Given the description of an element on the screen output the (x, y) to click on. 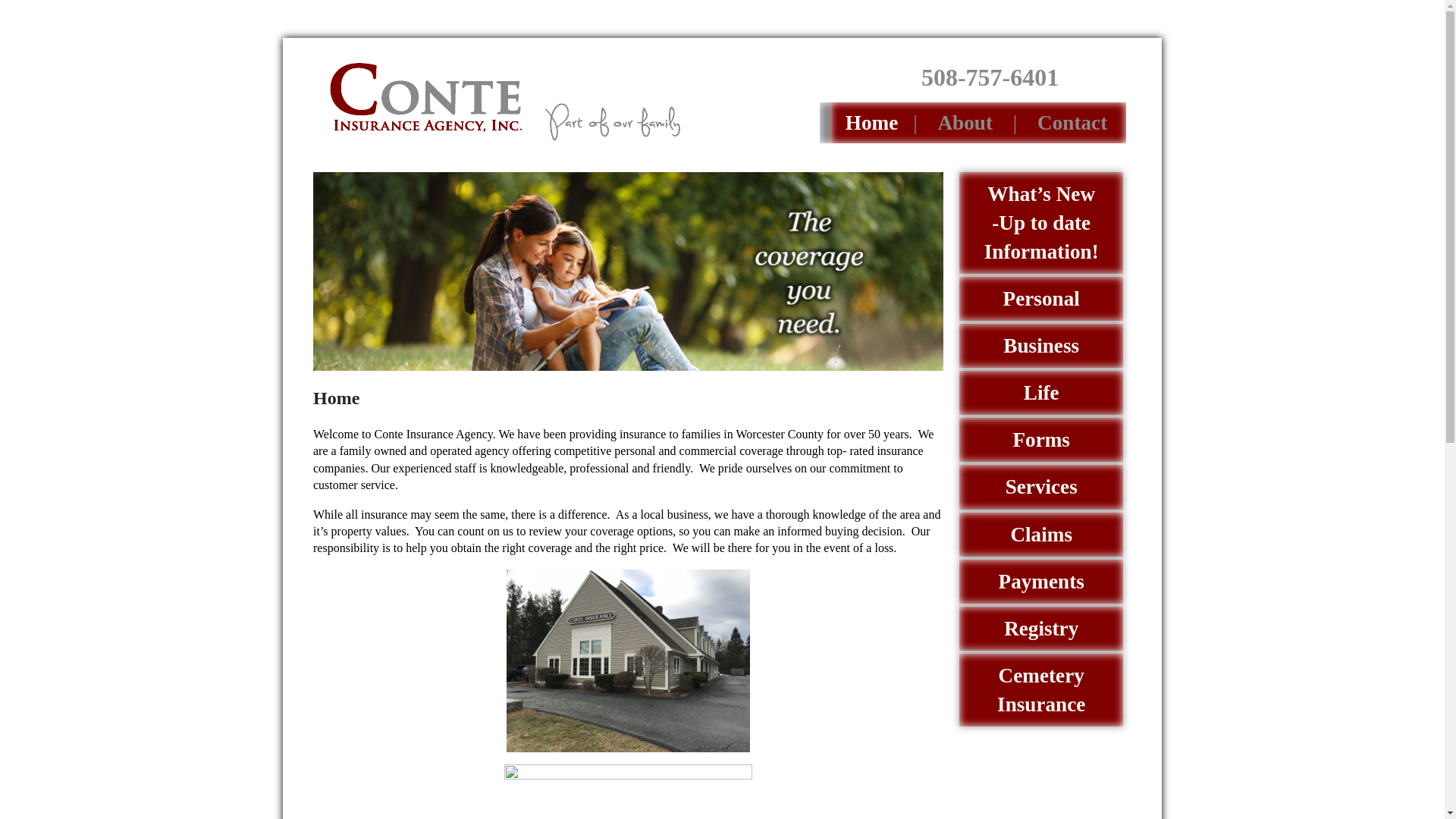
Facebook (1094, 76)
Personal (1040, 298)
Registry (1040, 628)
Conte Insurance (504, 100)
Claims (1040, 534)
Forms (1040, 439)
Payments (1040, 581)
Life (1040, 392)
Home (871, 122)
About (964, 122)
